Given the description of an element on the screen output the (x, y) to click on. 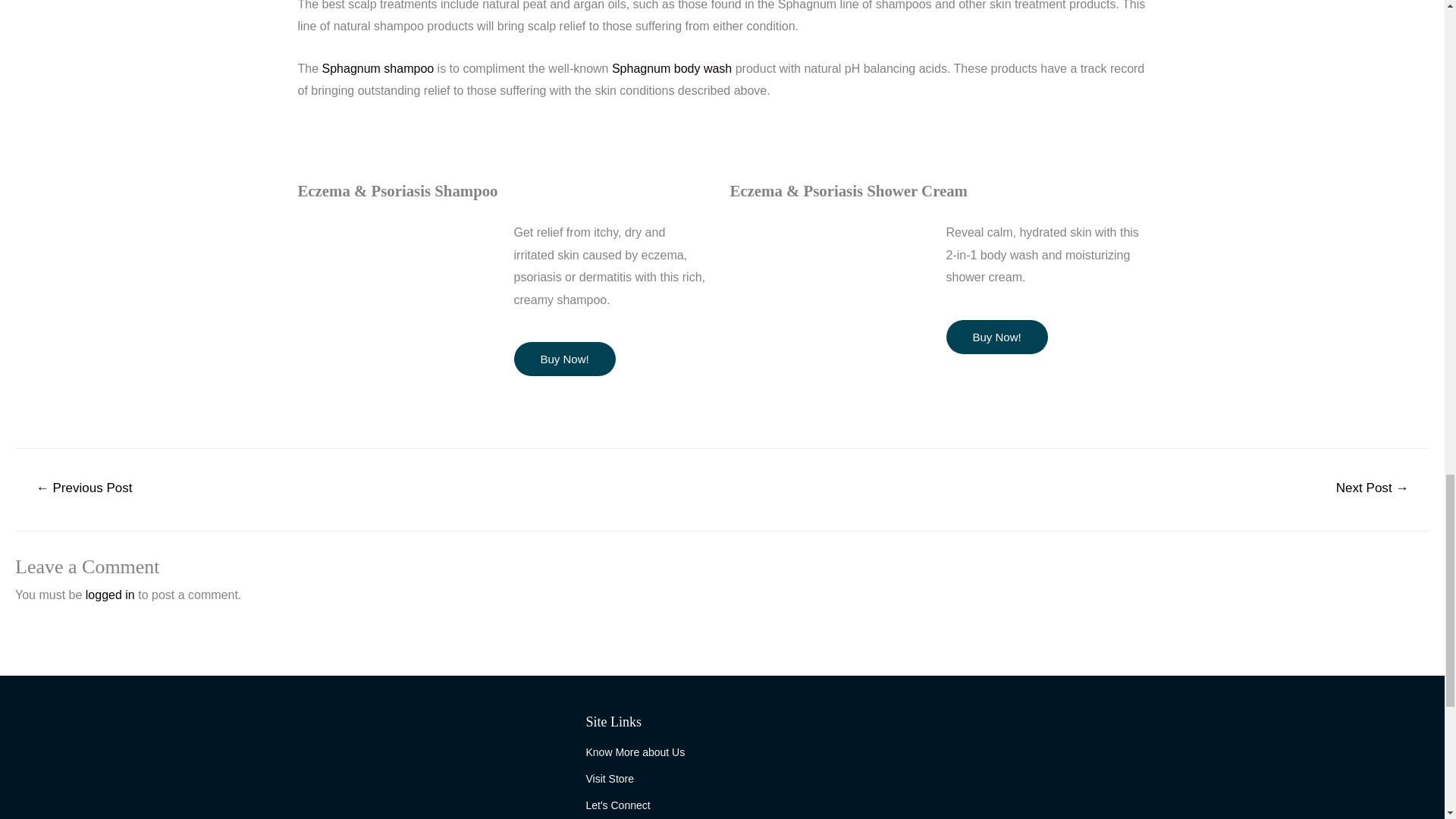
Sphagnum shampoo (377, 68)
Buy Now! (564, 358)
Sphagnum body wash (671, 68)
Know More about Us (722, 752)
Let's Connect (722, 805)
Visit Store (722, 779)
Buy Now! (997, 336)
logged in (110, 594)
